Given the description of an element on the screen output the (x, y) to click on. 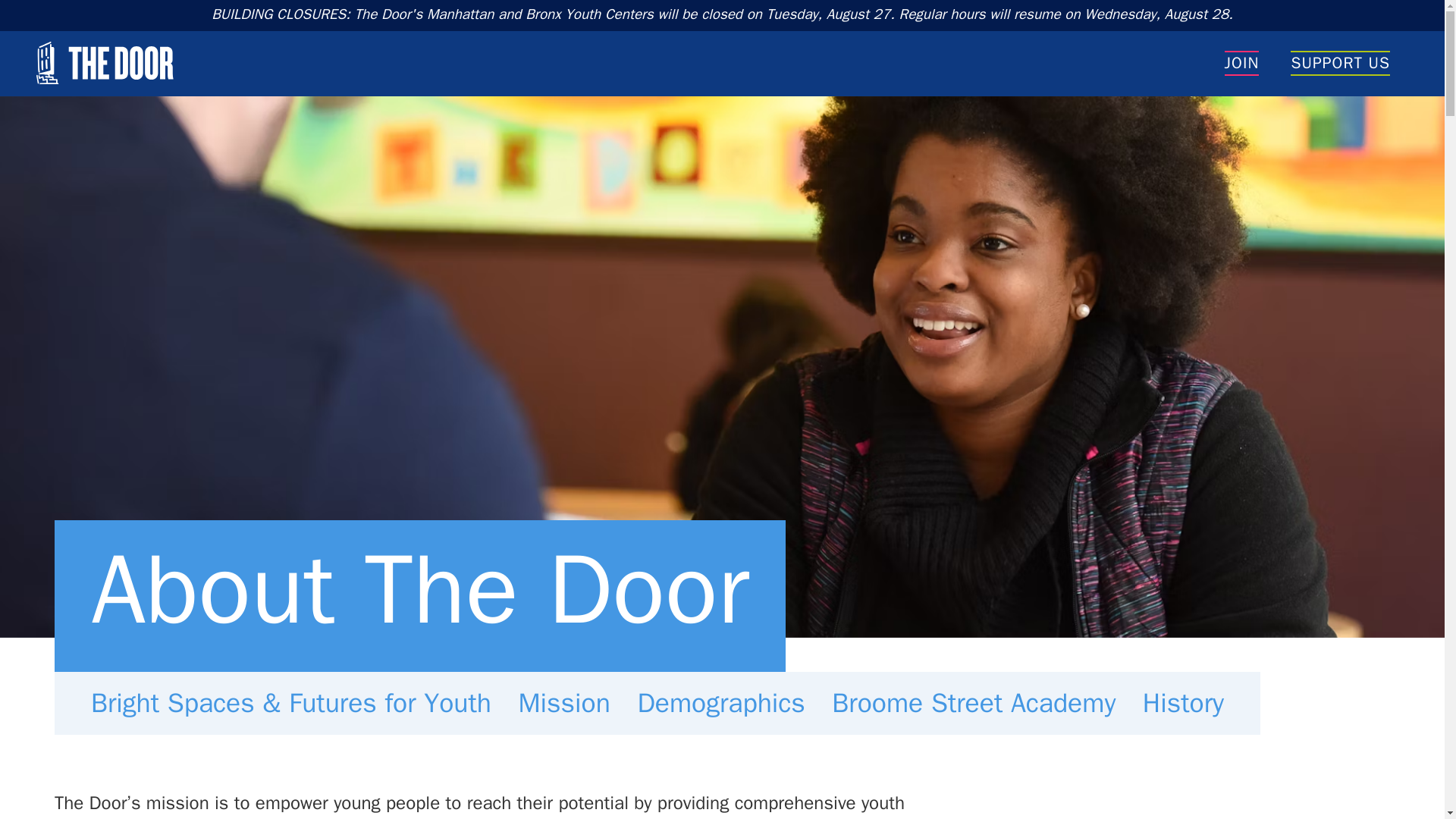
History (1183, 702)
JOIN (1241, 63)
SUPPORT US (1340, 63)
Mission (564, 702)
Broome Street Academy (973, 702)
Demographics (721, 702)
